Given the description of an element on the screen output the (x, y) to click on. 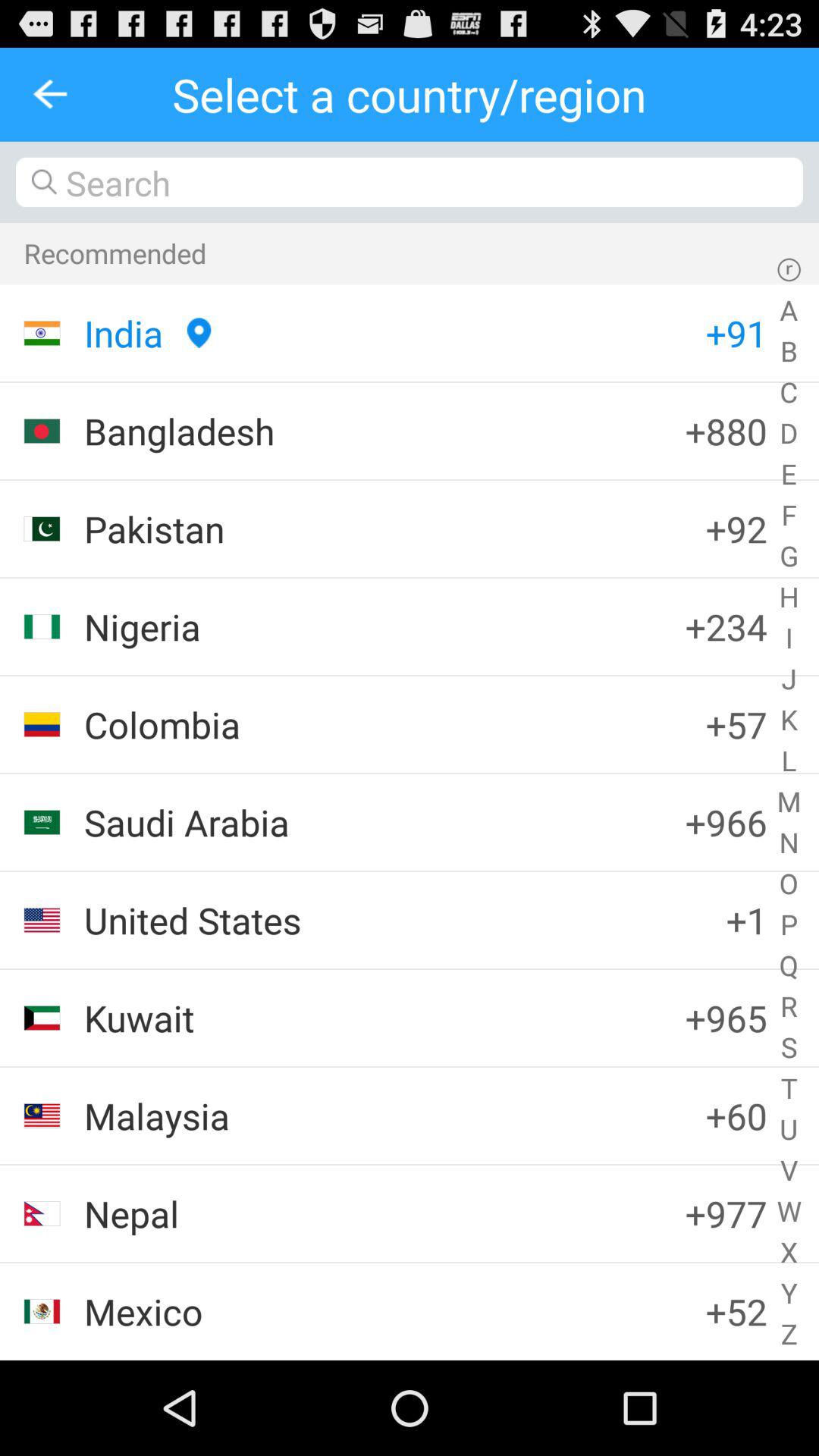
click to search option (409, 182)
